Given the description of an element on the screen output the (x, y) to click on. 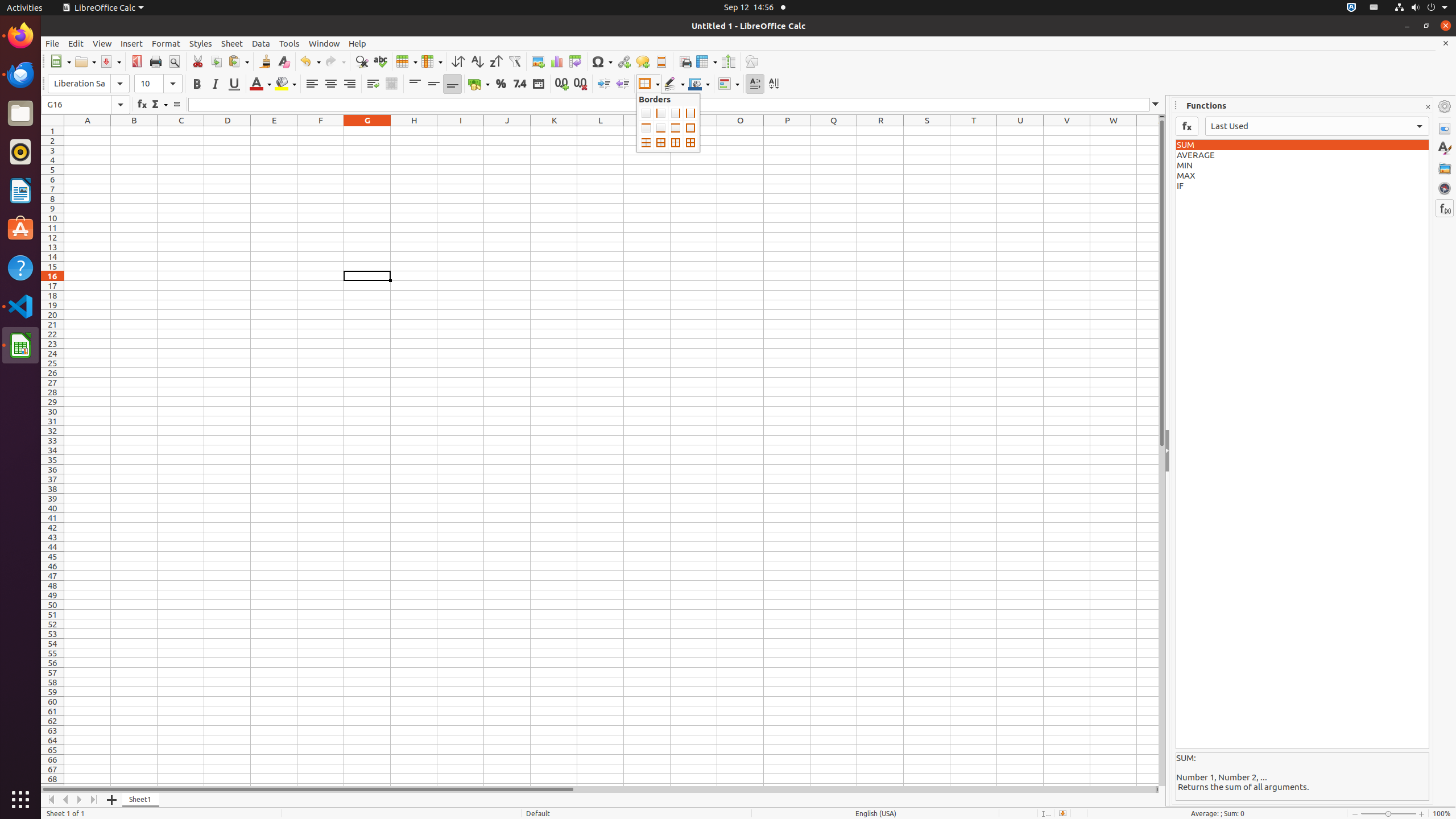
Styles Element type: menu (200, 43)
Print Area Element type: push-button (684, 61)
Sheet1 Element type: page-tab (140, 799)
Italic Element type: toggle-button (214, 83)
Save Element type: push-button (109, 61)
